Given the description of an element on the screen output the (x, y) to click on. 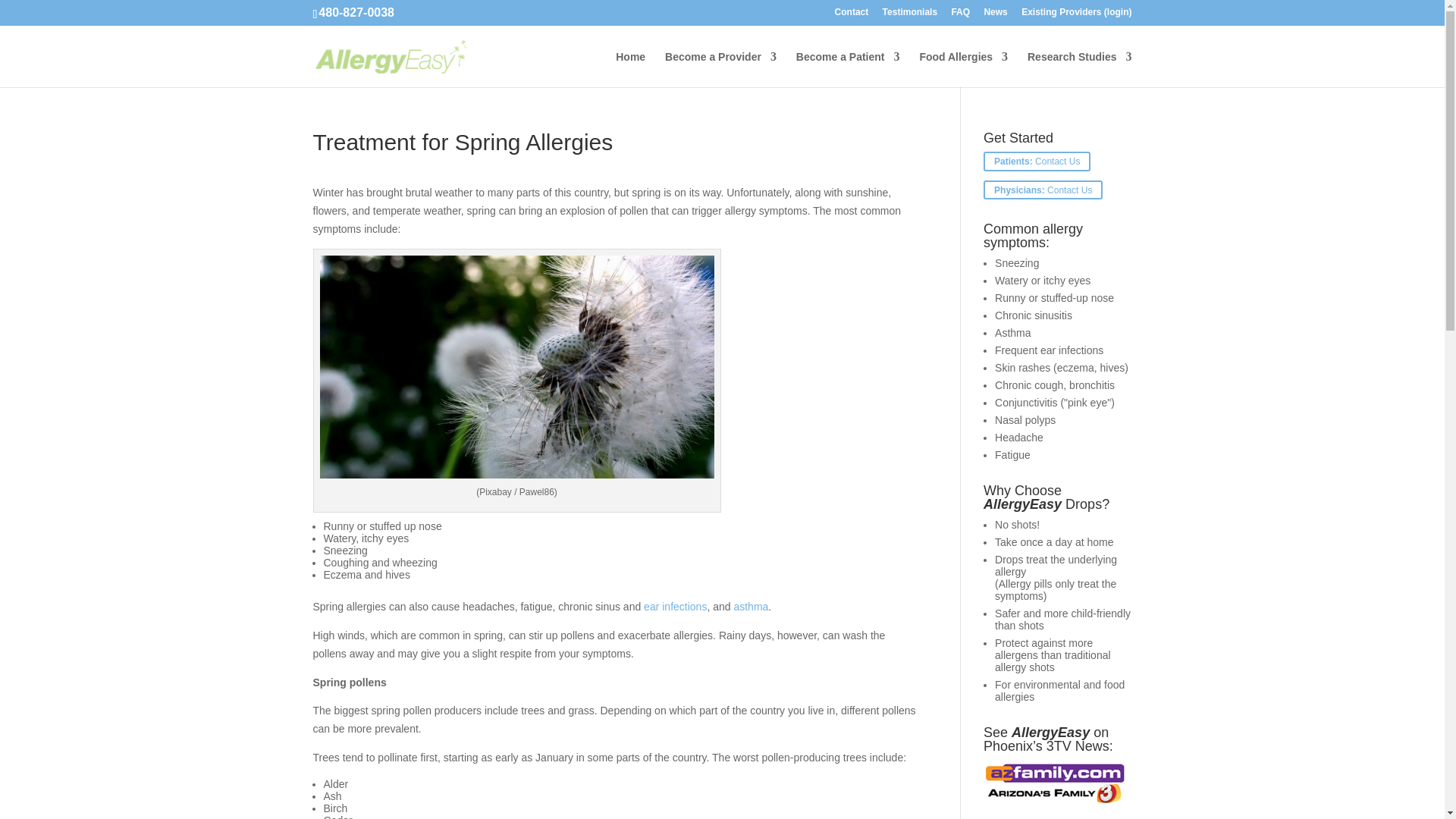
Become a Patient (847, 68)
Become a Provider (720, 68)
contact our doctors (851, 15)
allergy news (995, 15)
provider login (1076, 15)
subscribe sublingual immunotherapy (847, 68)
FAQ (959, 15)
Contact (851, 15)
Testimonials (909, 15)
Research Studies (1079, 68)
allergy treatment (630, 68)
subscribe sublingual immunotherapy (720, 68)
Food Allergies (962, 68)
questions (959, 15)
News (995, 15)
